Given the description of an element on the screen output the (x, y) to click on. 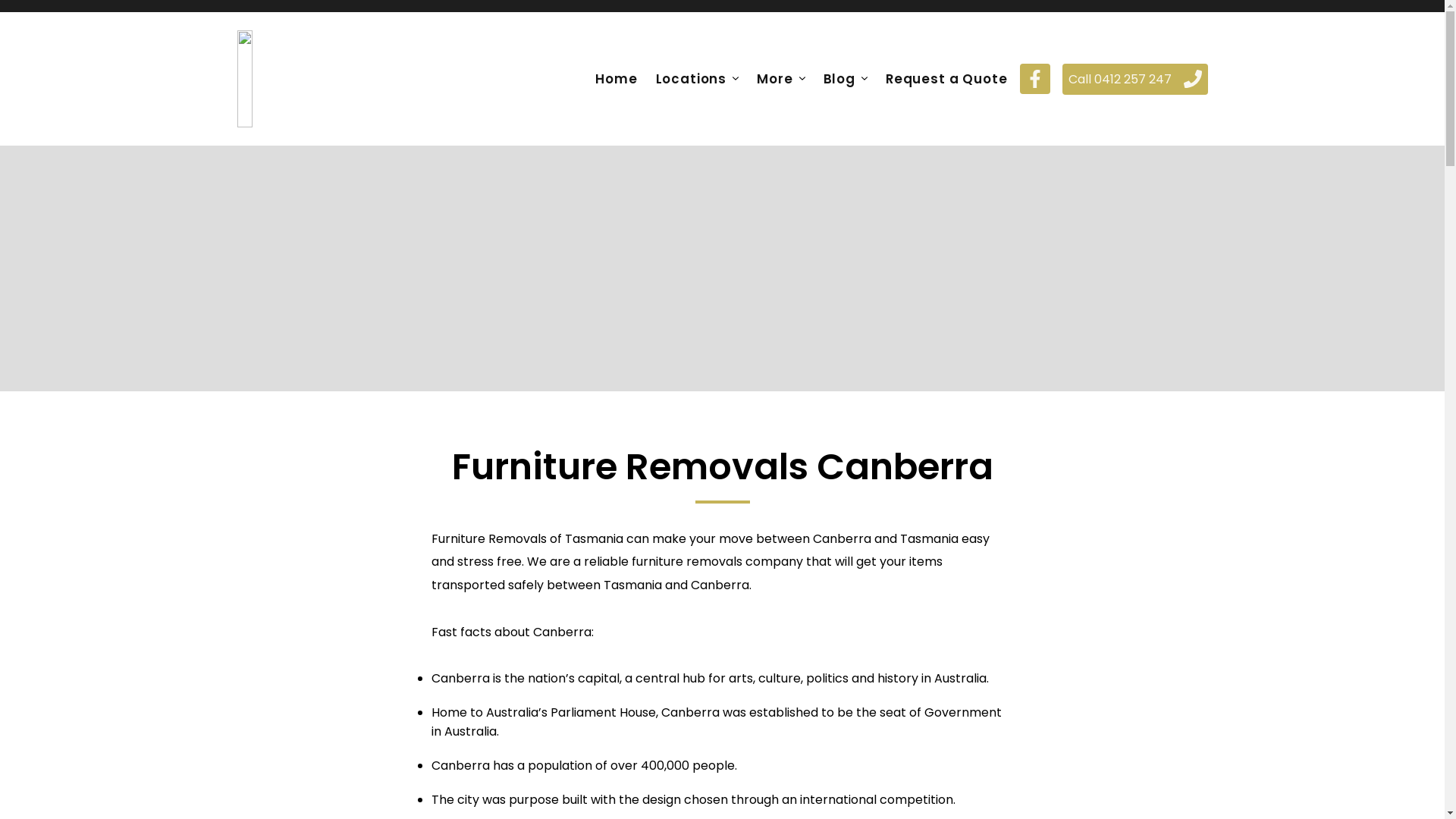
Blog Element type: text (839, 78)
Call 0412 257 247 Element type: text (1134, 78)
Home Element type: text (616, 78)
More Element type: text (774, 78)
Locations Element type: text (691, 78)
Request a Quote Element type: text (946, 78)
